Given the description of an element on the screen output the (x, y) to click on. 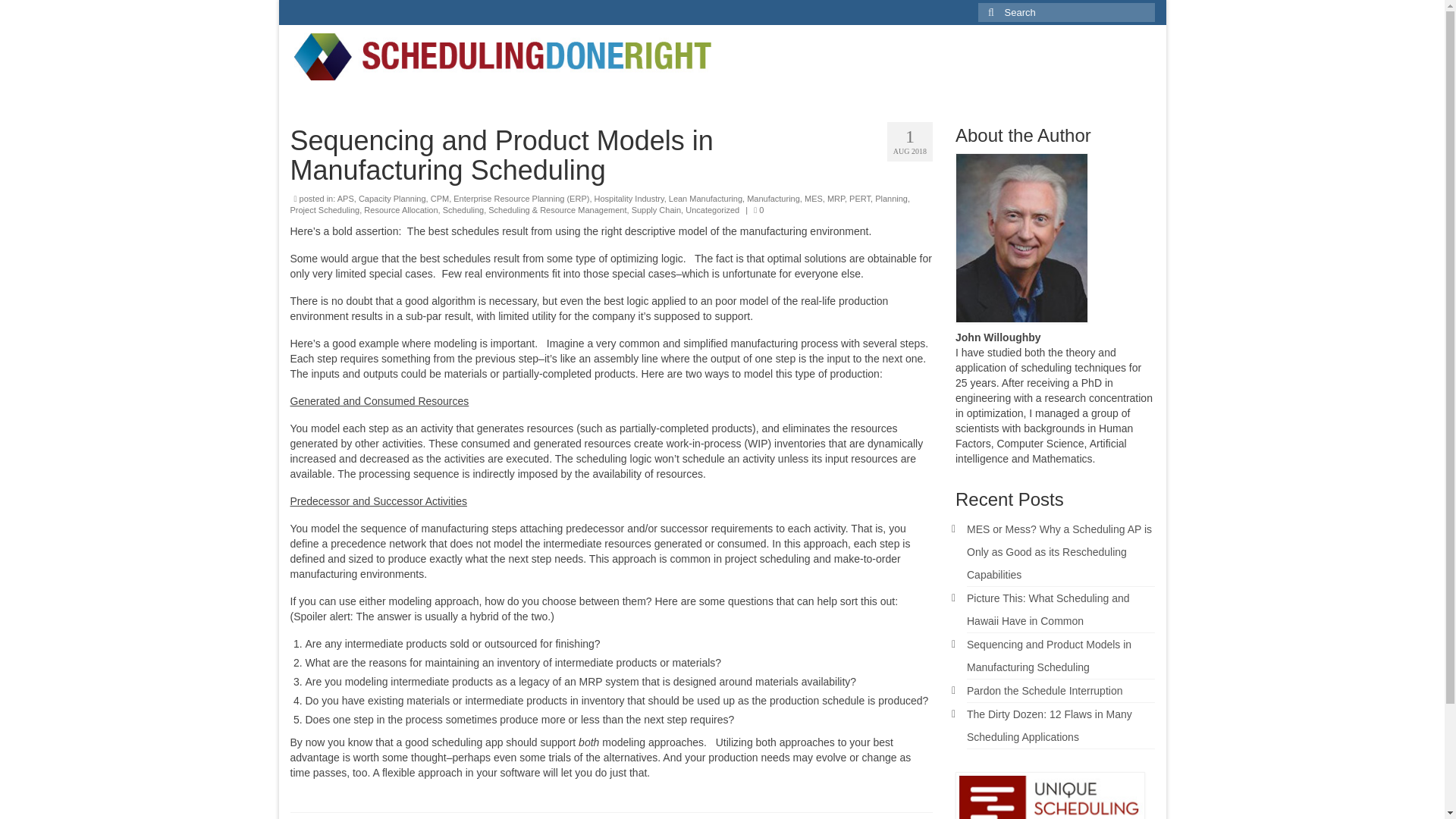
Lean Manufacturing (705, 198)
APS (345, 198)
Resource Allocation (401, 209)
Picture This: What Scheduling and Hawaii Have in Common (1047, 609)
Supply Chain (656, 209)
PERT (859, 198)
Sequencing and Product Models in Manufacturing Scheduling (1048, 655)
Planning (891, 198)
Project Scheduling (324, 209)
CPM (439, 198)
Pardon the Schedule Interruption (1044, 690)
MES (813, 198)
The Dirty Dozen: 12 Flaws in Many Scheduling Applications (1049, 725)
Scheduling (462, 209)
Uncategorized (712, 209)
